Given the description of an element on the screen output the (x, y) to click on. 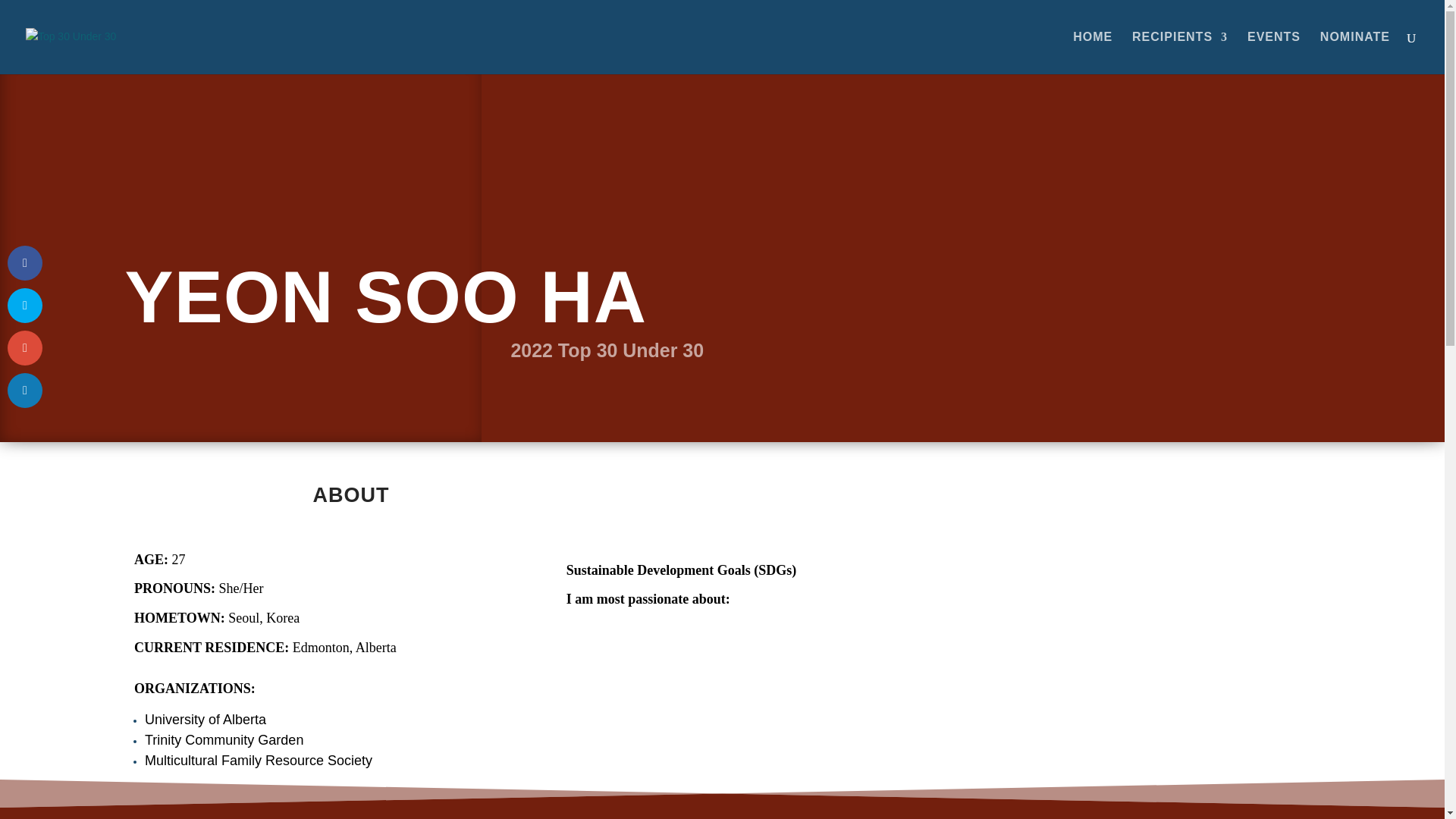
RECIPIENTS (1179, 52)
EVENTS (1273, 52)
NOMINATE (1355, 52)
HOME (1092, 52)
